Given the description of an element on the screen output the (x, y) to click on. 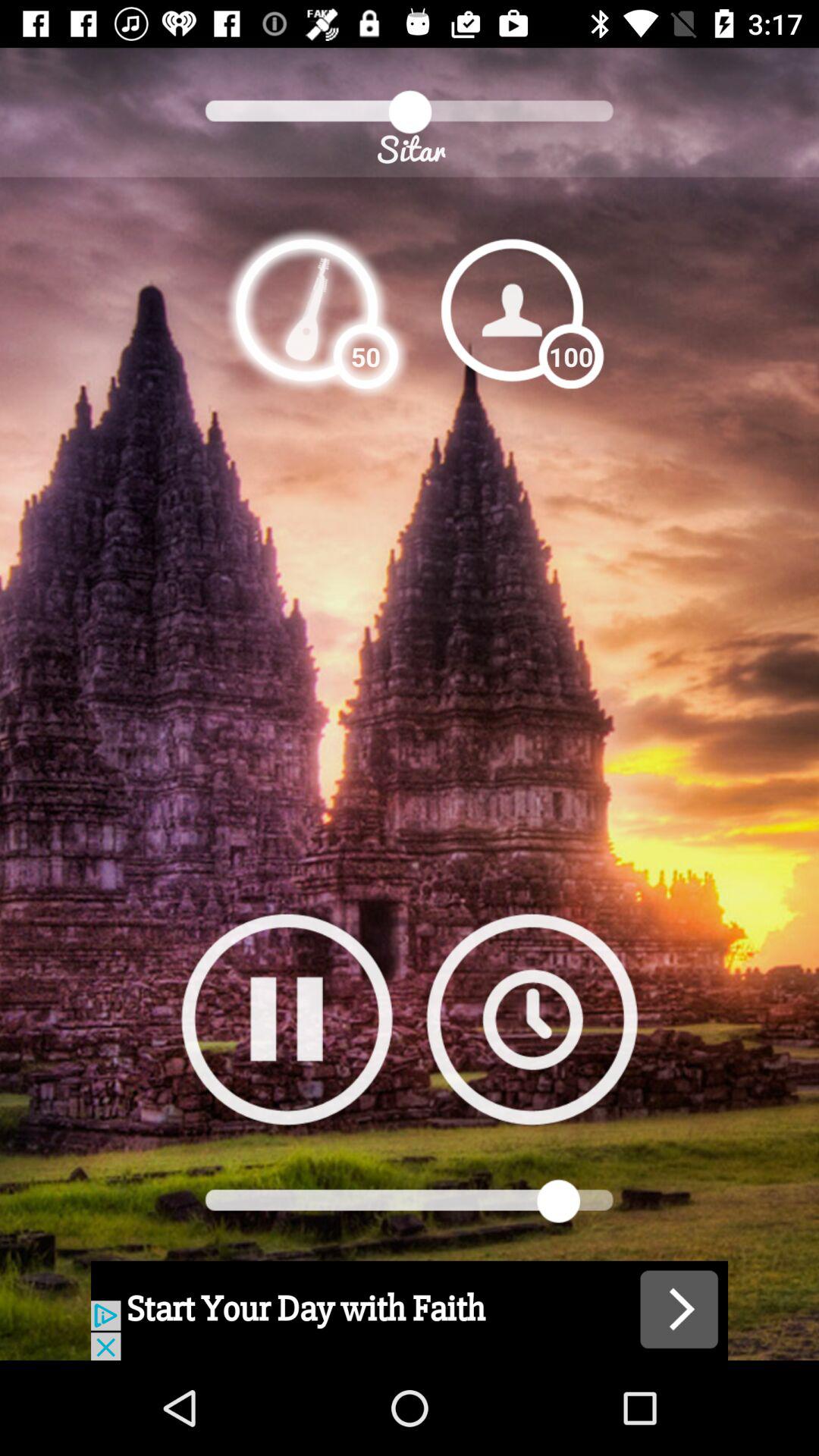
pause (286, 1018)
